Given the description of an element on the screen output the (x, y) to click on. 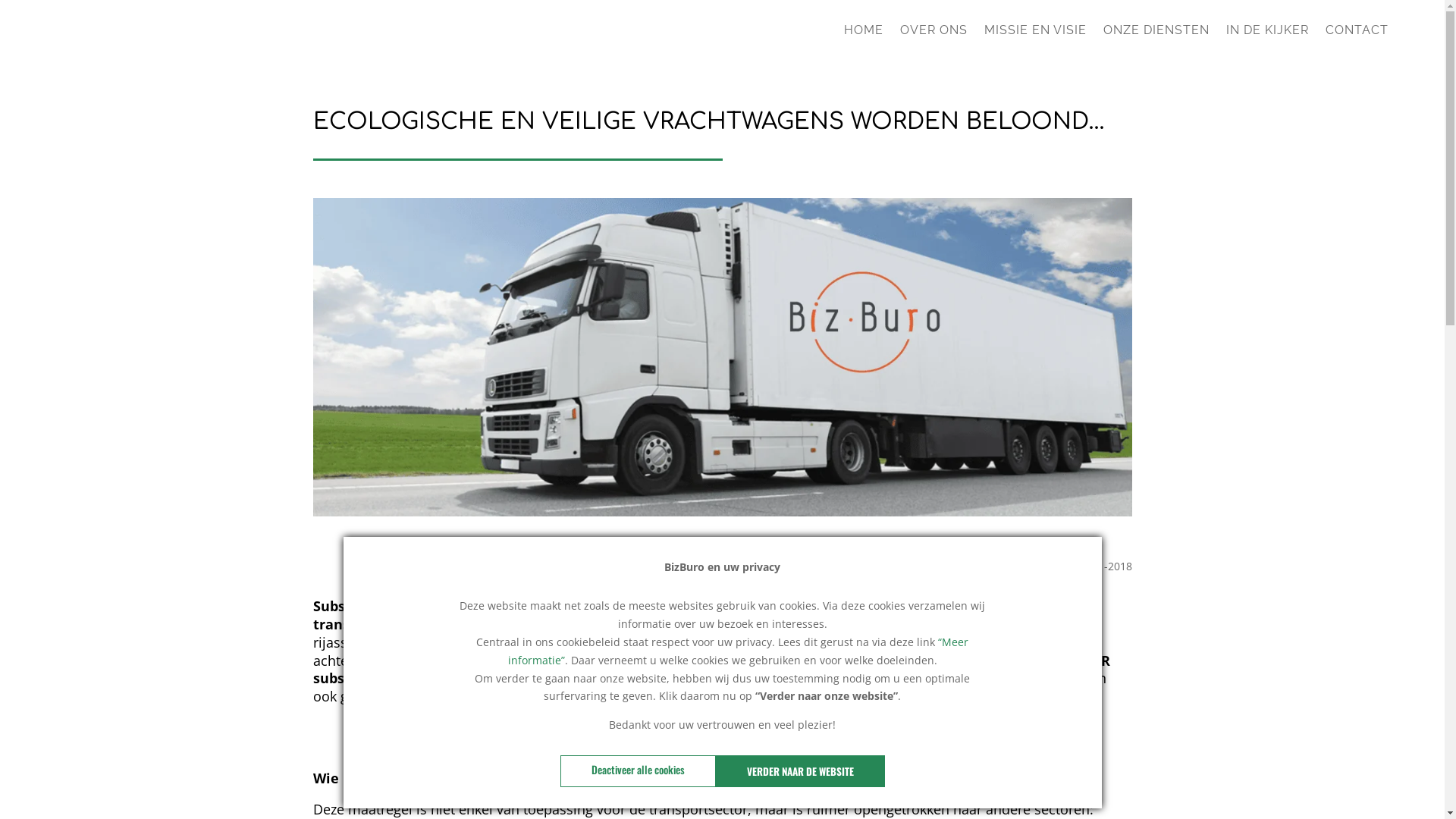
OVER ONS Element type: text (933, 36)
CONTACT Element type: text (1356, 36)
IN DE KIJKER Element type: text (1267, 36)
Deactiveer alle cookies Element type: text (637, 771)
VERDER NAAR DE WEBSITE Element type: text (799, 771)
HOME Element type: text (863, 36)
MISSIE EN VISIE Element type: text (1035, 36)
ONZE DIENSTEN Element type: text (1156, 36)
